Given the description of an element on the screen output the (x, y) to click on. 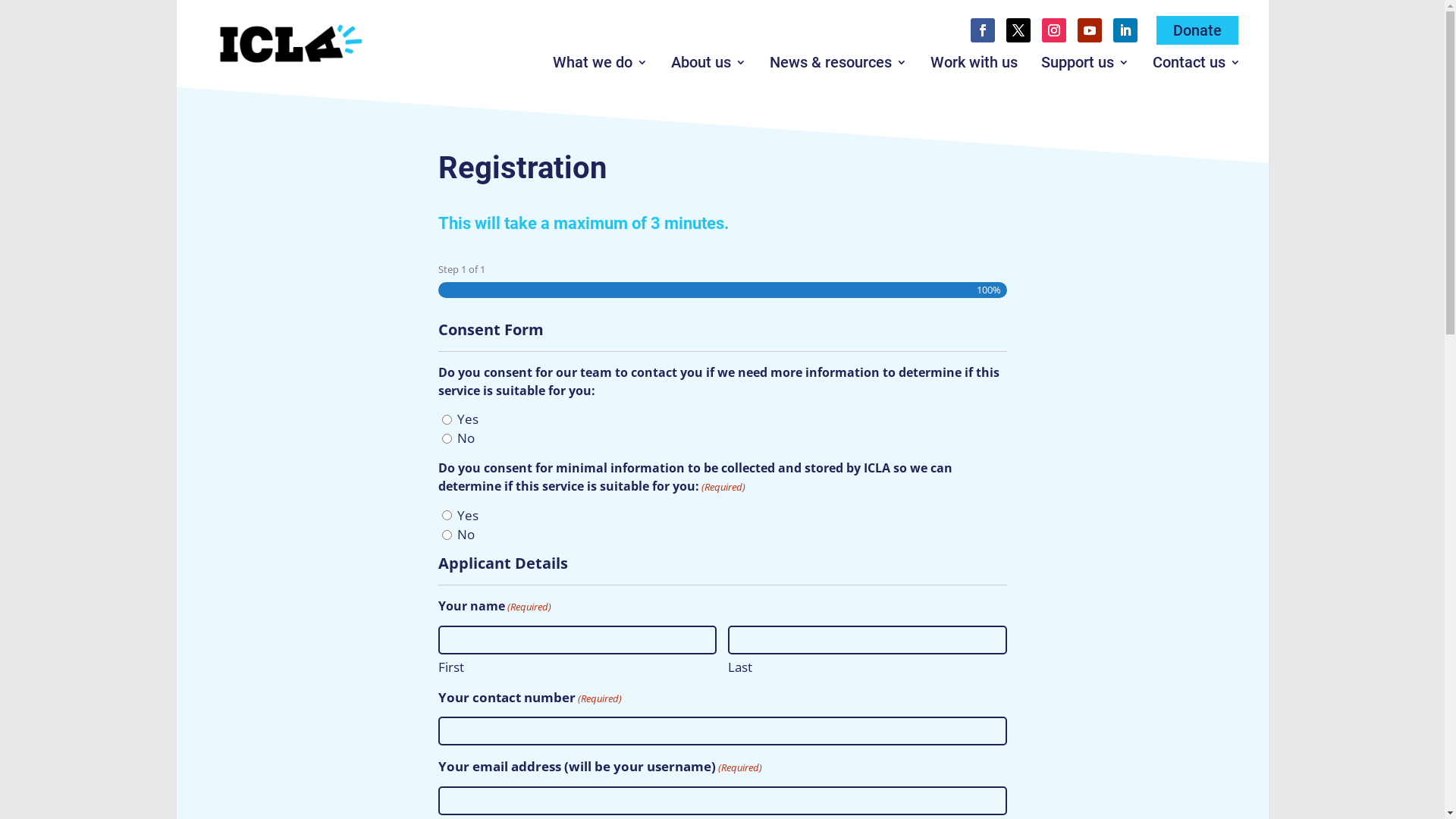
Follow on Instagram Element type: hover (1053, 30)
About us Element type: text (708, 64)
Follow on Facebook Element type: hover (982, 30)
What we do Element type: text (599, 64)
Contact us Element type: text (1196, 64)
Follow on X Element type: hover (1018, 30)
Follow on LinkedIn Element type: hover (1125, 30)
Donate Element type: text (1197, 29)
ICLA_Logo_Colour_Rev_Full_1_lge Element type: hover (288, 43)
Follow on Youtube Element type: hover (1089, 30)
News & resources Element type: text (837, 64)
Work with us Element type: text (973, 64)
Support us Element type: text (1085, 64)
Proceed to booking call Element type: text (280, 19)
